Given the description of an element on the screen output the (x, y) to click on. 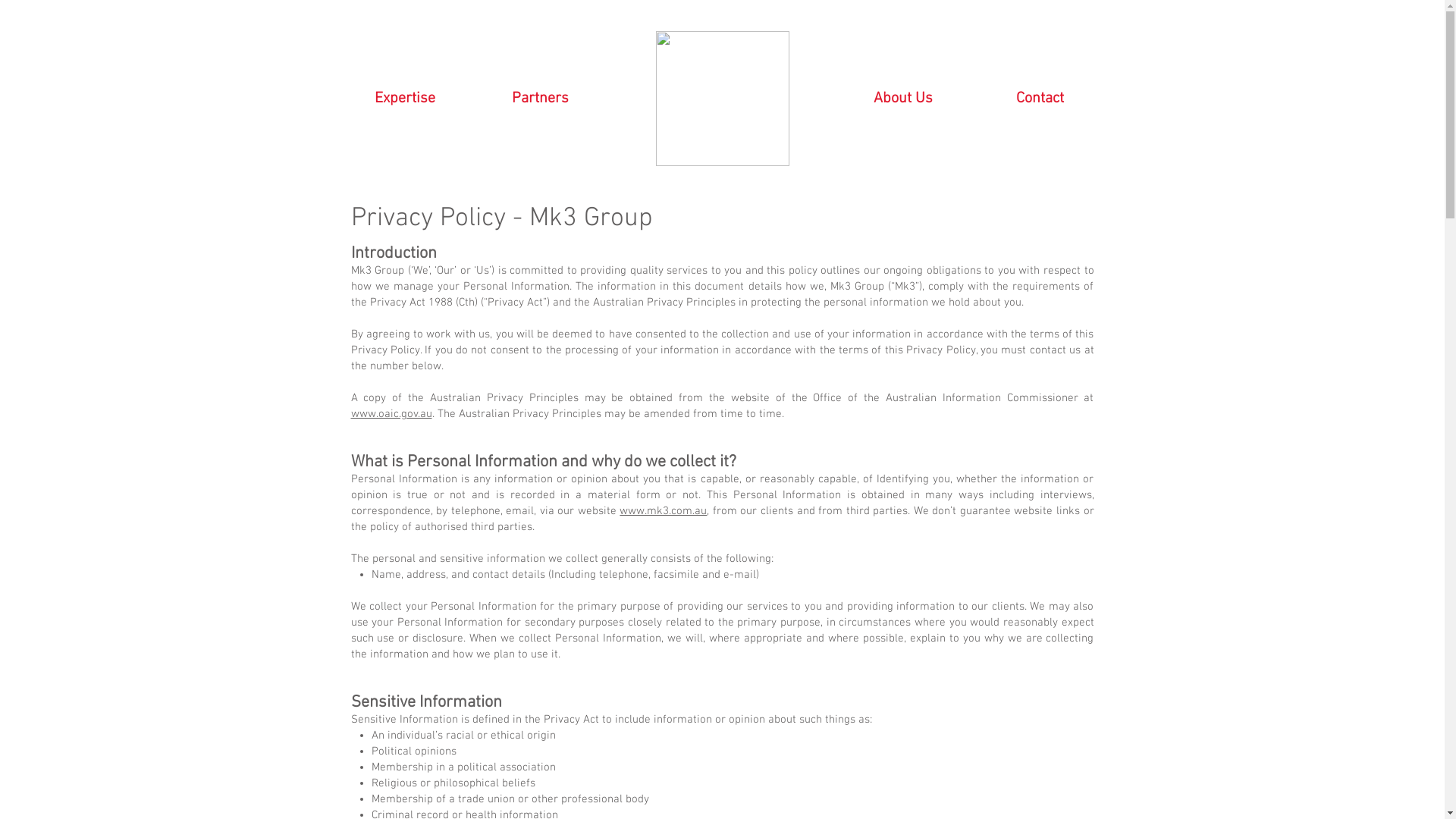
www.oaic.gov.au Element type: text (390, 413)
Contact Element type: text (1039, 98)
Partners Element type: text (540, 98)
www.mk3.com.au Element type: text (662, 510)
Expertise Element type: text (404, 98)
About Us Element type: text (903, 98)
